Given the description of an element on the screen output the (x, y) to click on. 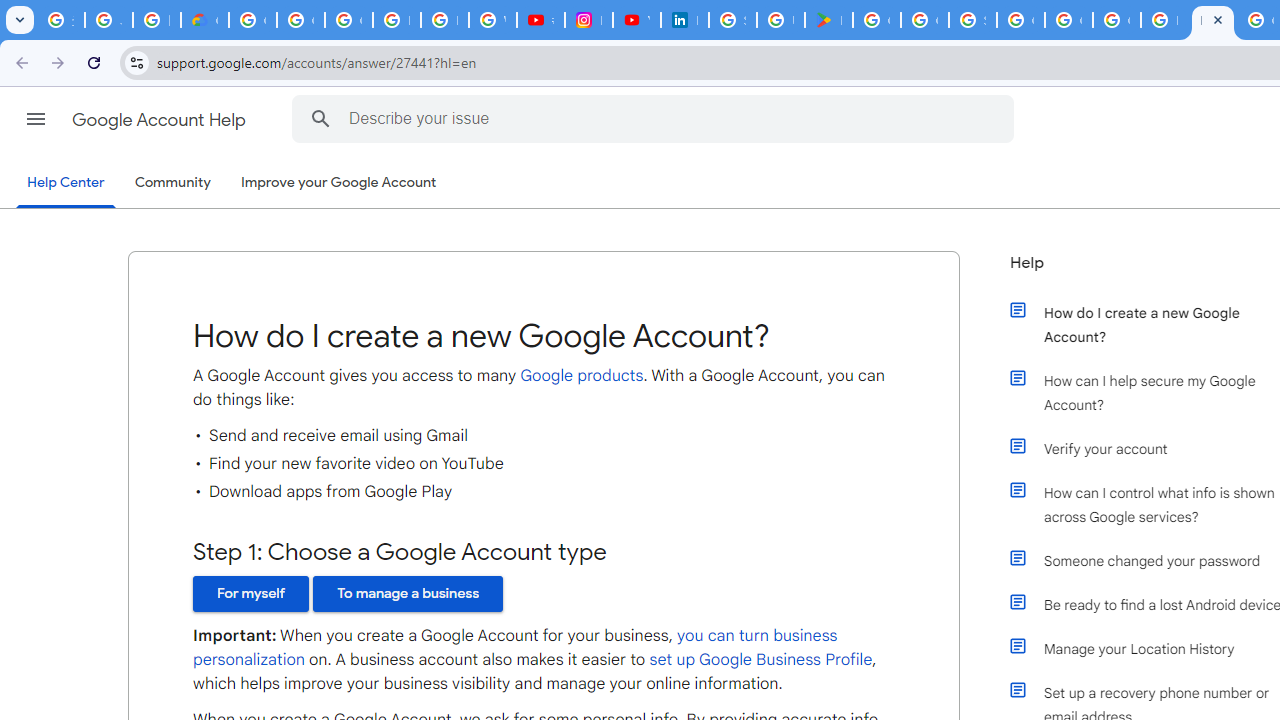
set up Google Business Profile (760, 660)
For myself (251, 594)
Privacy Help Center - Policies Help (444, 20)
Google Workspace - Specific Terms (924, 20)
Improve your Google Account (339, 183)
Describe your issue (655, 118)
